Given the description of an element on the screen output the (x, y) to click on. 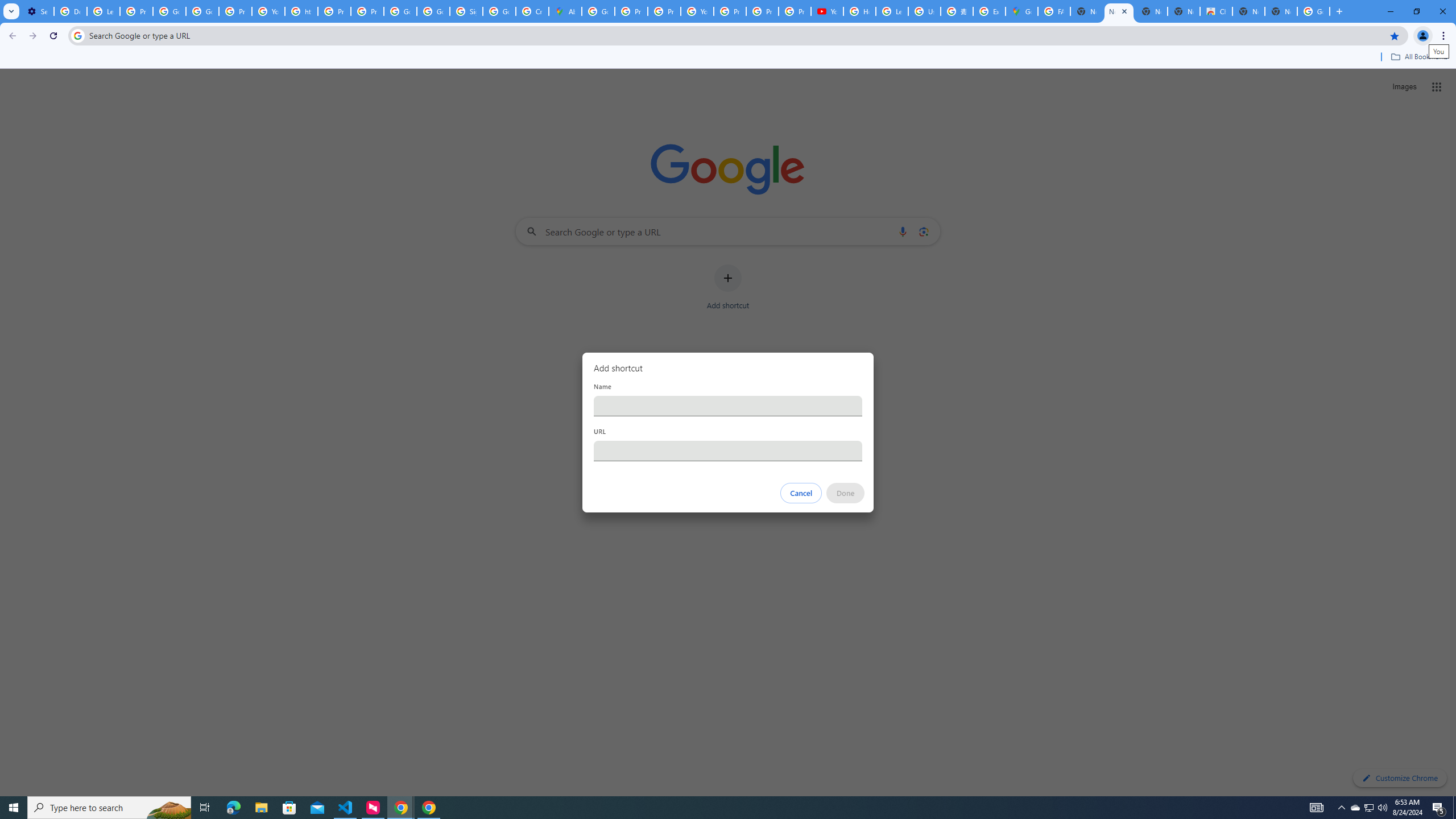
Delete photos & videos - Computer - Google Photos Help (70, 11)
Name (727, 405)
Privacy Help Center - Policies Help (631, 11)
Google Account Help (169, 11)
Google Images (1313, 11)
